Given the description of an element on the screen output the (x, y) to click on. 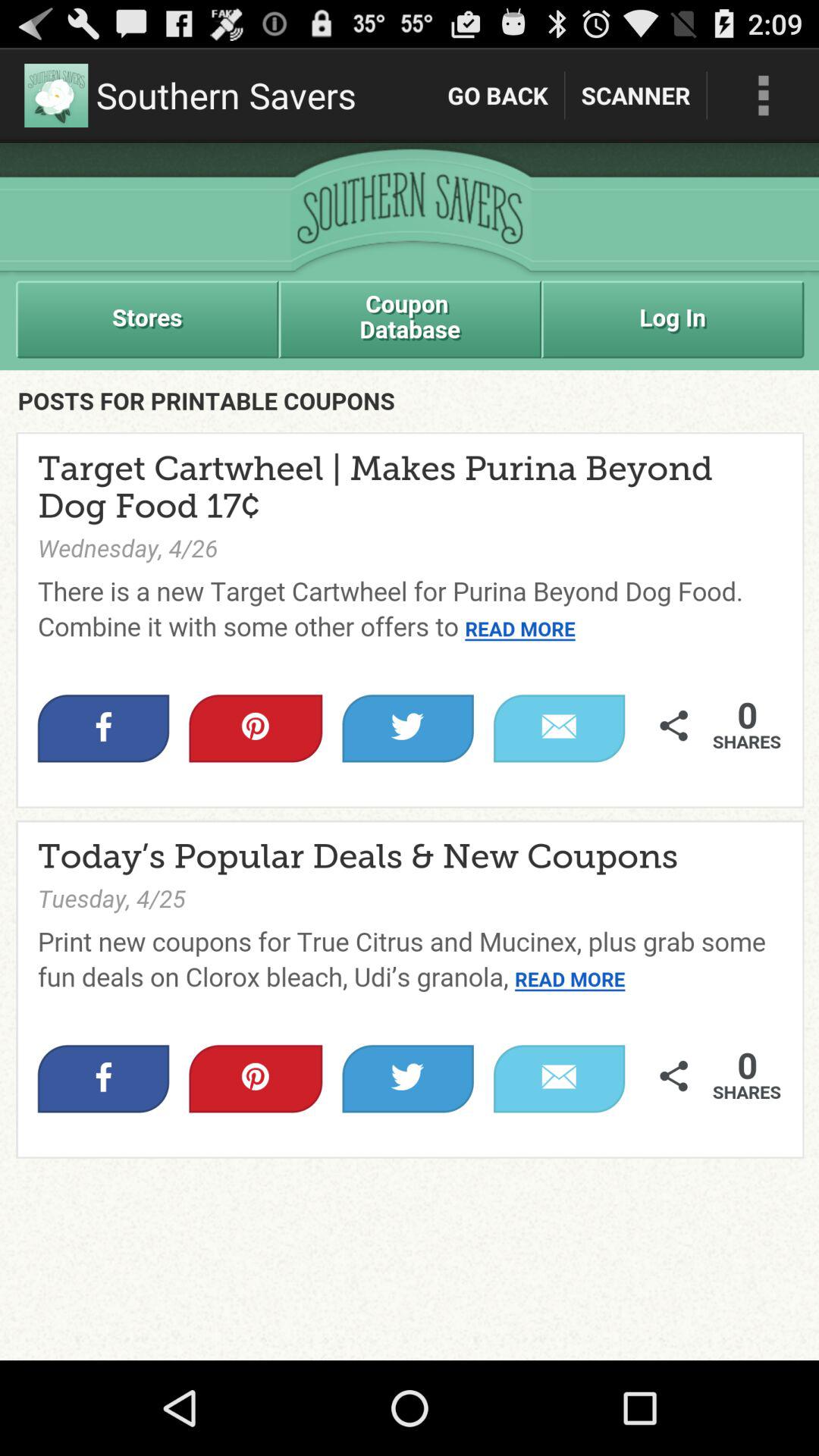
savings post link (409, 751)
